Given the description of an element on the screen output the (x, y) to click on. 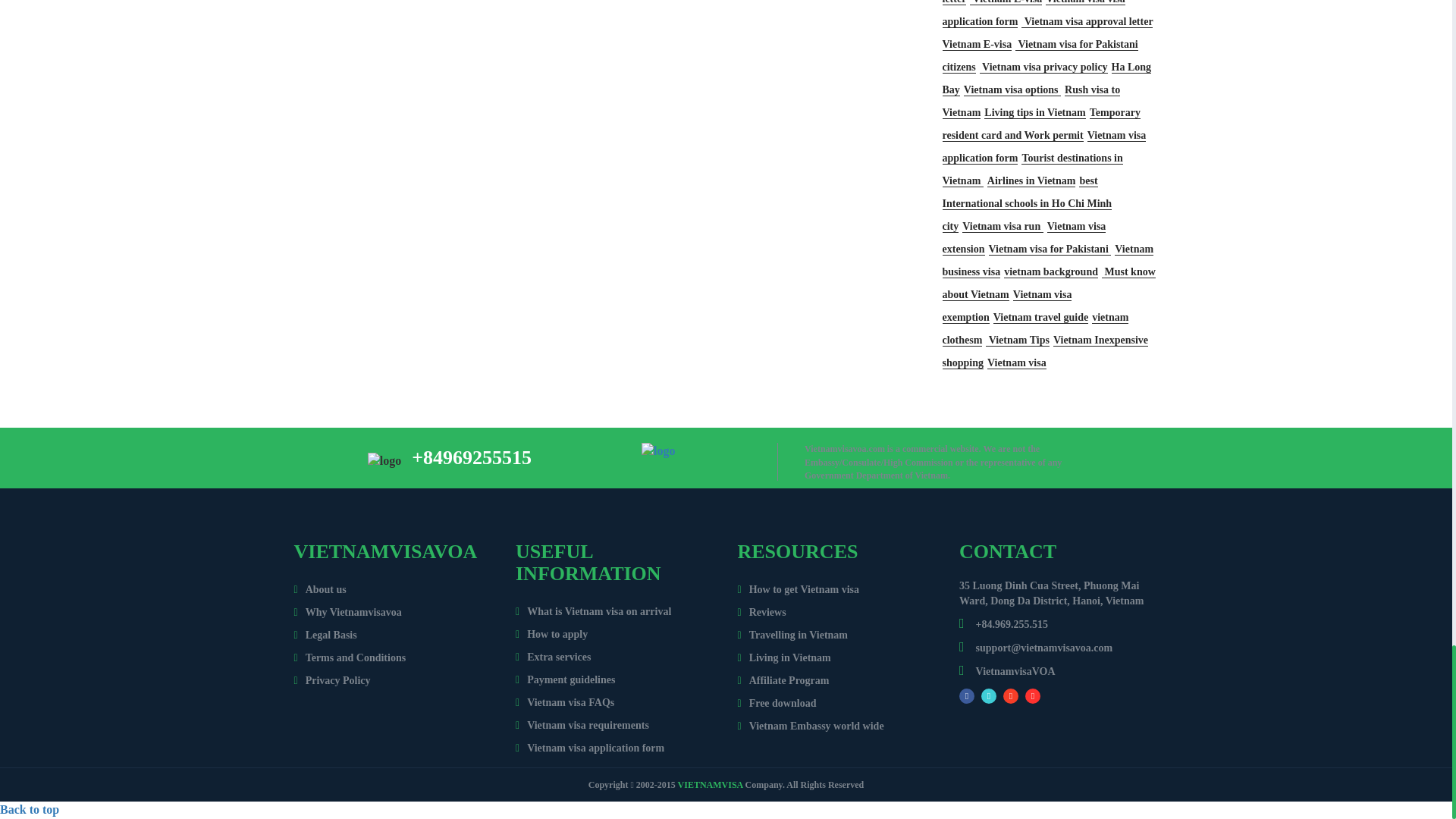
Privacy Policy (332, 680)
Vietnam visa FAQs (564, 702)
How to get Vietnam visa (797, 589)
Vietnam visa requirements (582, 725)
Payment guidelines (564, 679)
What is Vietnam visa on arrival (593, 611)
How to apply  (551, 633)
Vietnam visa application form (589, 747)
Reviews (761, 612)
About us (320, 589)
Extra services (553, 656)
Terms and Conditions (350, 657)
Why Vietnamvisavoa (347, 612)
Legal Basis (325, 634)
